Given the description of an element on the screen output the (x, y) to click on. 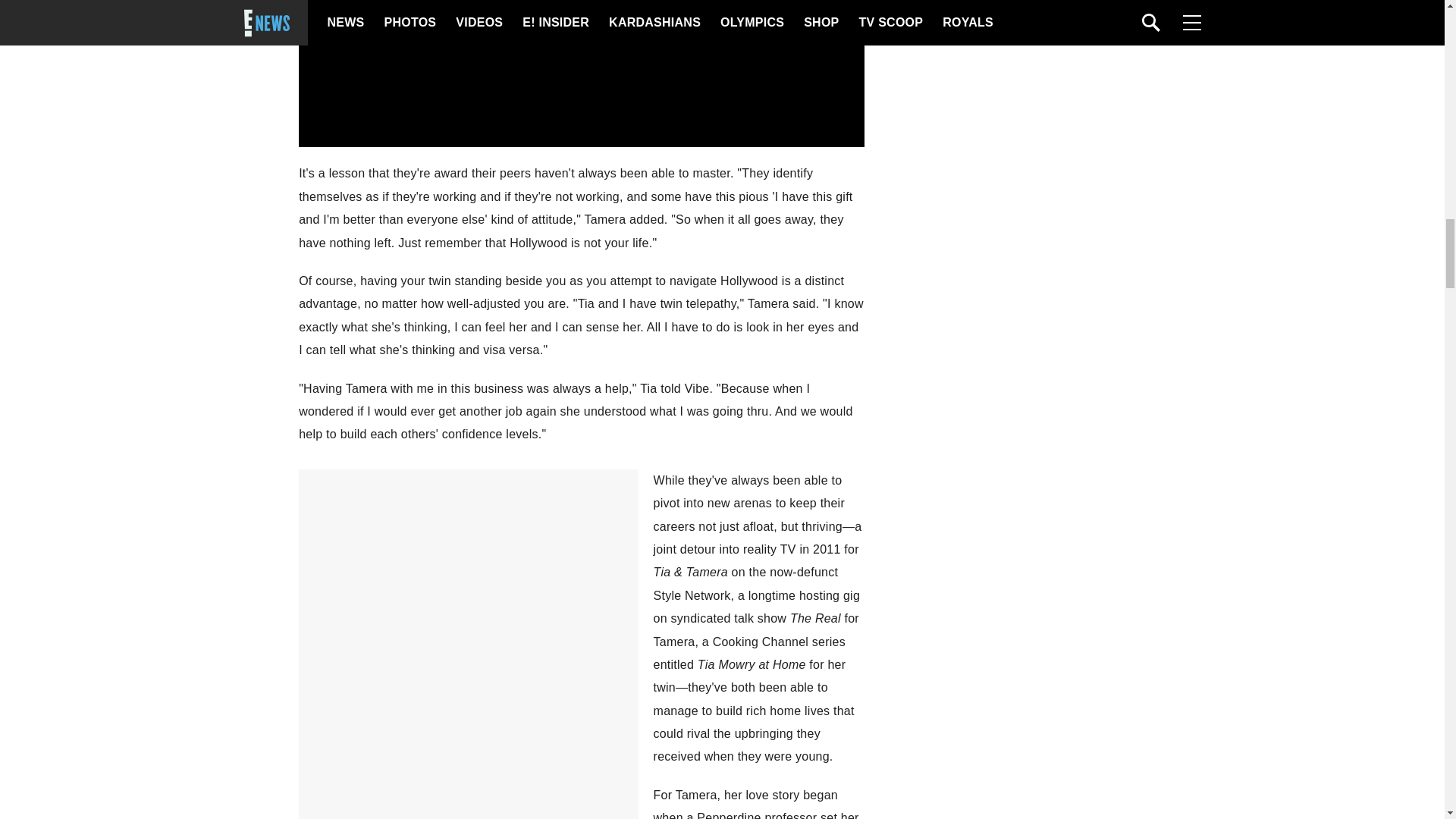
Must watch - top videos player (581, 71)
